Given the description of an element on the screen output the (x, y) to click on. 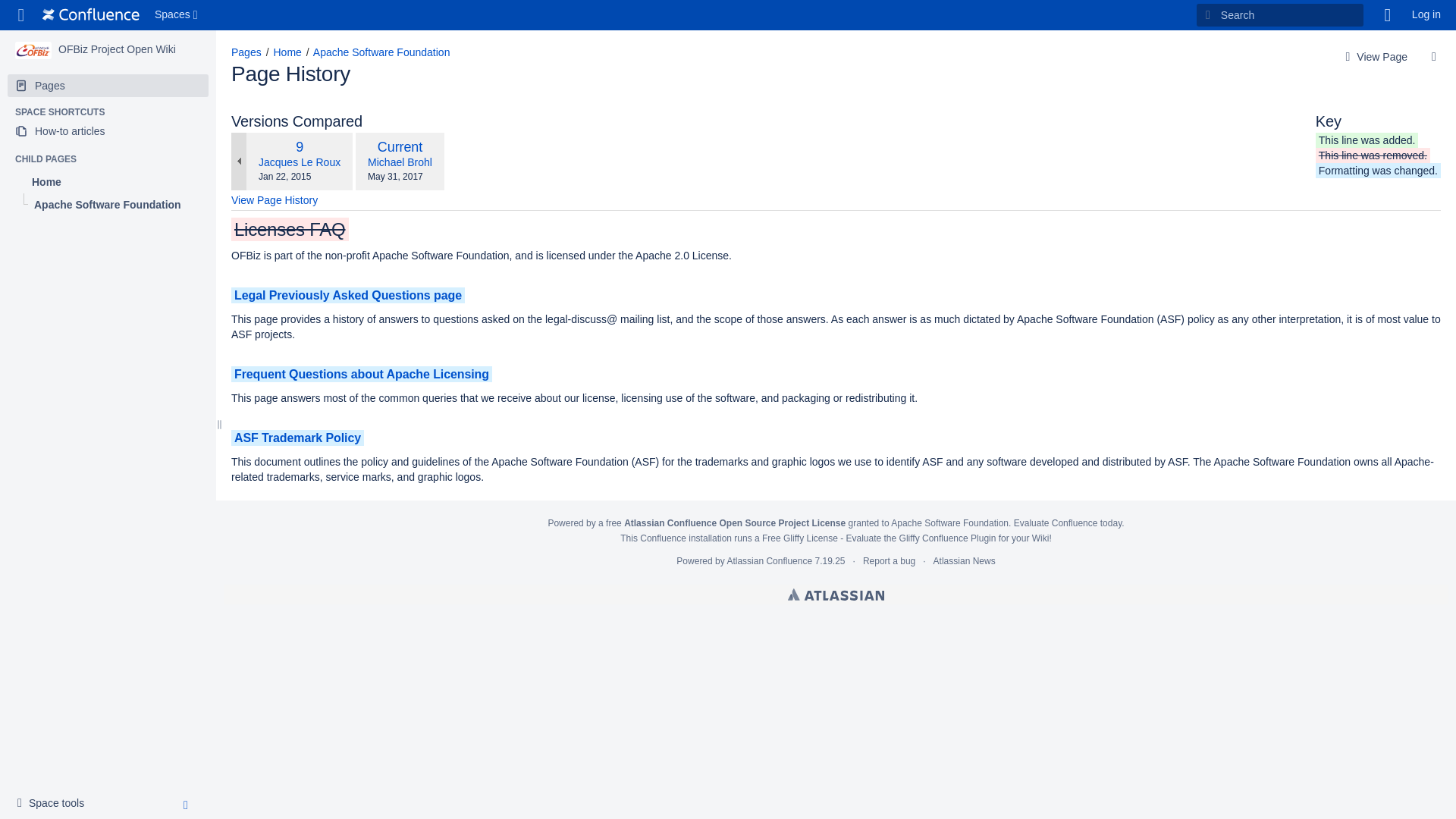
View Page (1374, 56)
Jacques Le Roux (299, 162)
How-to articles (107, 130)
Help (1388, 15)
Log in (1426, 15)
Home (287, 51)
OFBiz Project Open Wiki (32, 49)
OFBiz Project Open Wiki (117, 49)
OFBiz Project Open Wiki (117, 49)
Pages (107, 85)
